Given the description of an element on the screen output the (x, y) to click on. 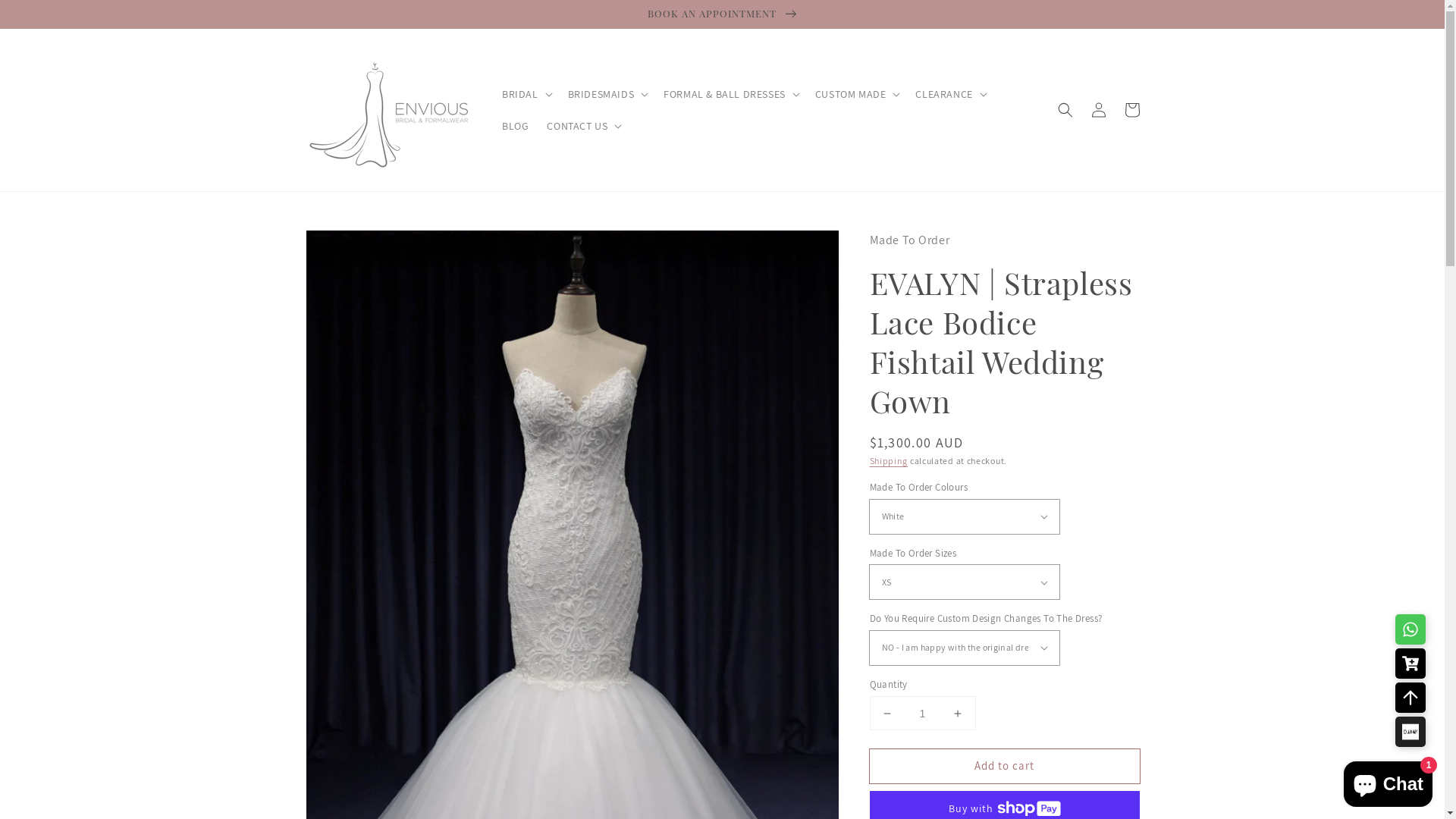
Shipping Element type: text (888, 460)
Add to cart Element type: text (1004, 766)
BOOK AN APPOINTMENT Element type: text (722, 14)
Cart Element type: text (1131, 109)
BLOG Element type: text (514, 125)
Shopify online store chat Element type: hover (1388, 780)
Log in Element type: text (1097, 109)
Skip to product information Element type: text (349, 246)
